Given the description of an element on the screen output the (x, y) to click on. 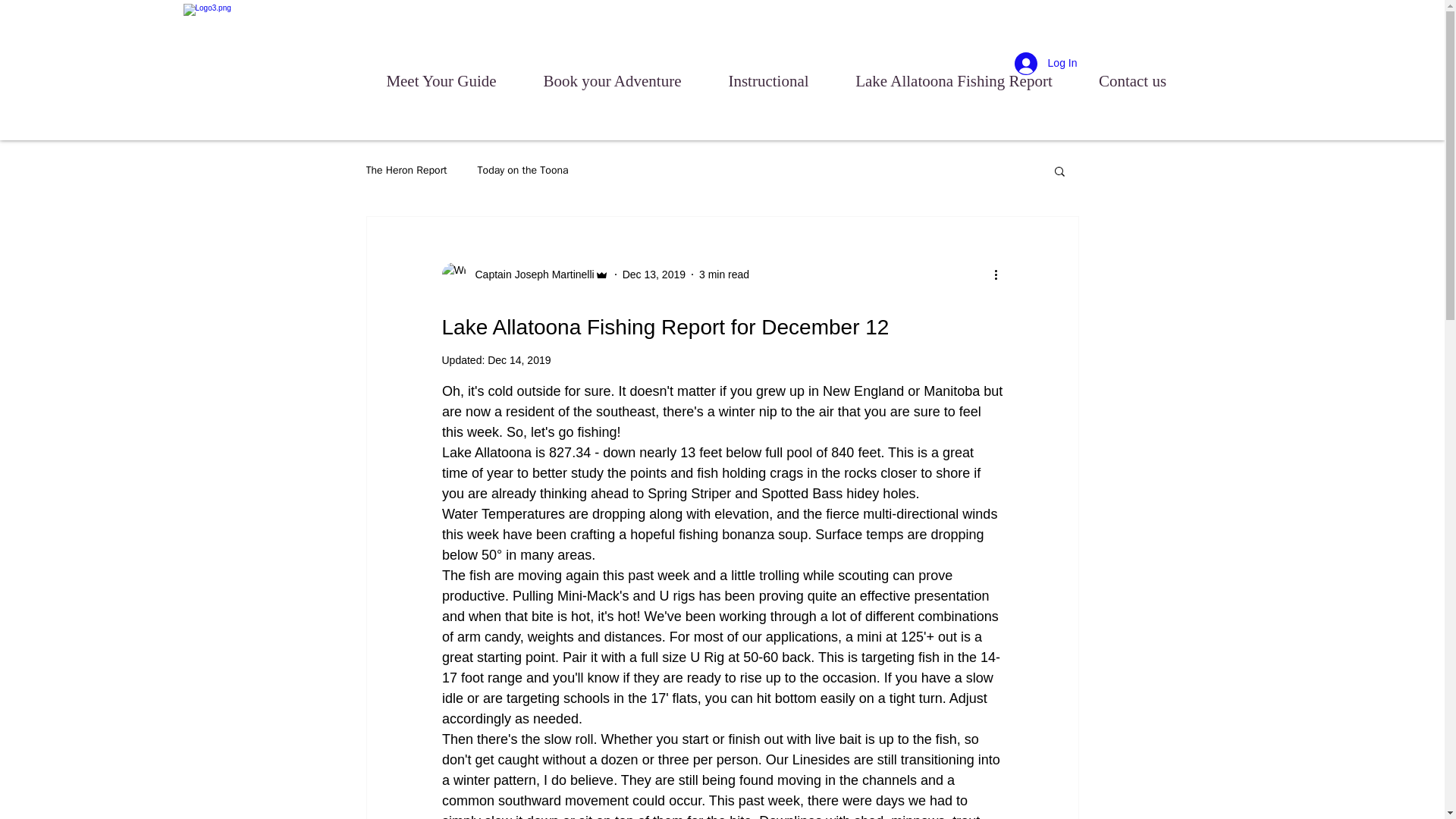
Logo 2.png (296, 83)
The Heron Report (405, 170)
Book your Adventure (611, 73)
Dec 14, 2019 (518, 359)
Meet Your Guide (440, 73)
Dec 13, 2019 (654, 274)
Lake Allatoona Fishing Report (953, 73)
3 min read (723, 274)
Today on the Toona (523, 170)
Contact us (1132, 73)
Captain Joseph Martinelli (524, 274)
Captain Joseph Martinelli (529, 274)
Log In (1045, 63)
